Given the description of an element on the screen output the (x, y) to click on. 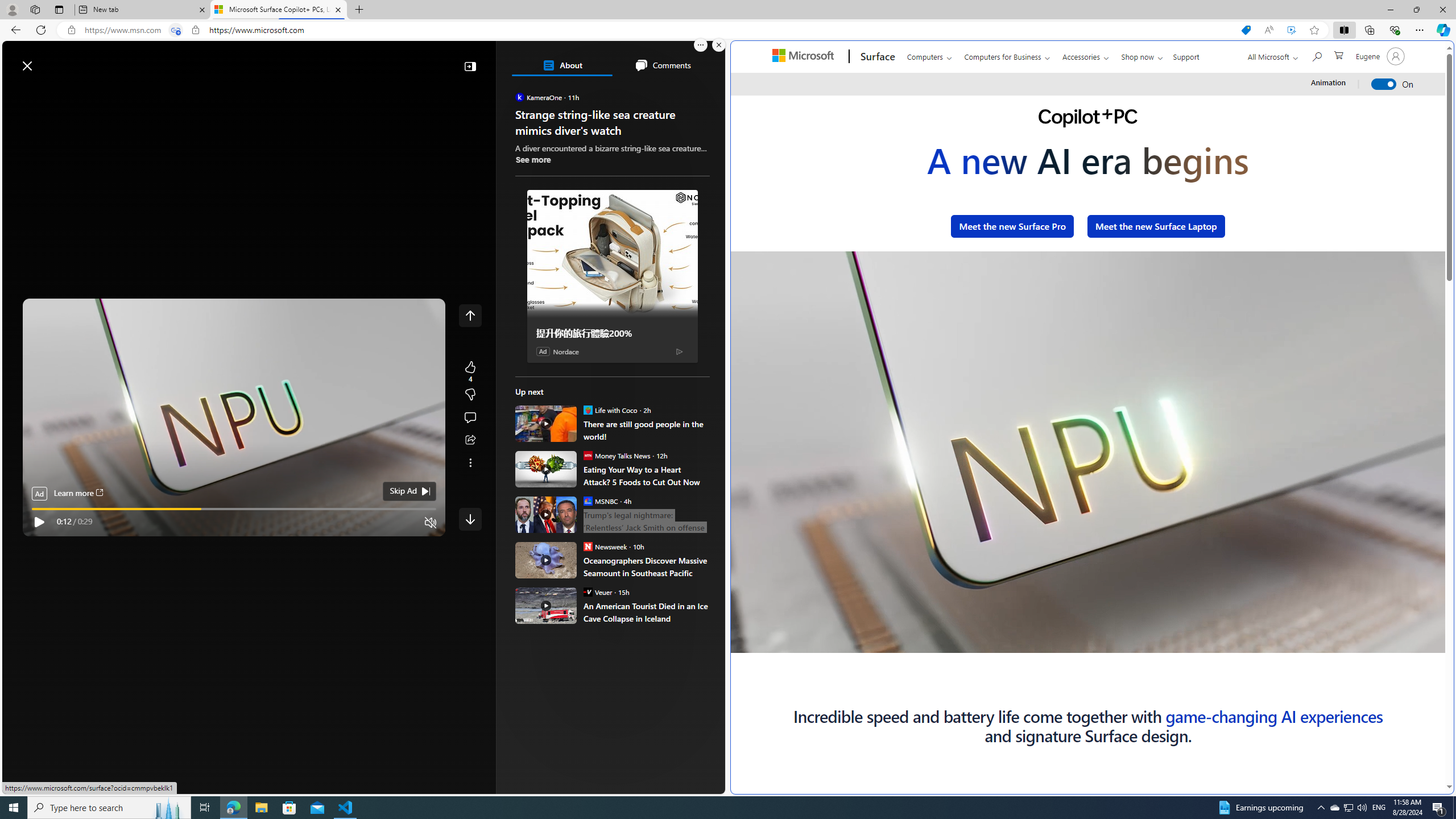
More like this4Fewer like thisStart the conversation (469, 394)
Close split screen. (719, 45)
Search Microsoft.com (1316, 54)
Skip to footer (46, 59)
Unmute (1406, 643)
Life with Coco (587, 409)
